Given the description of an element on the screen output the (x, y) to click on. 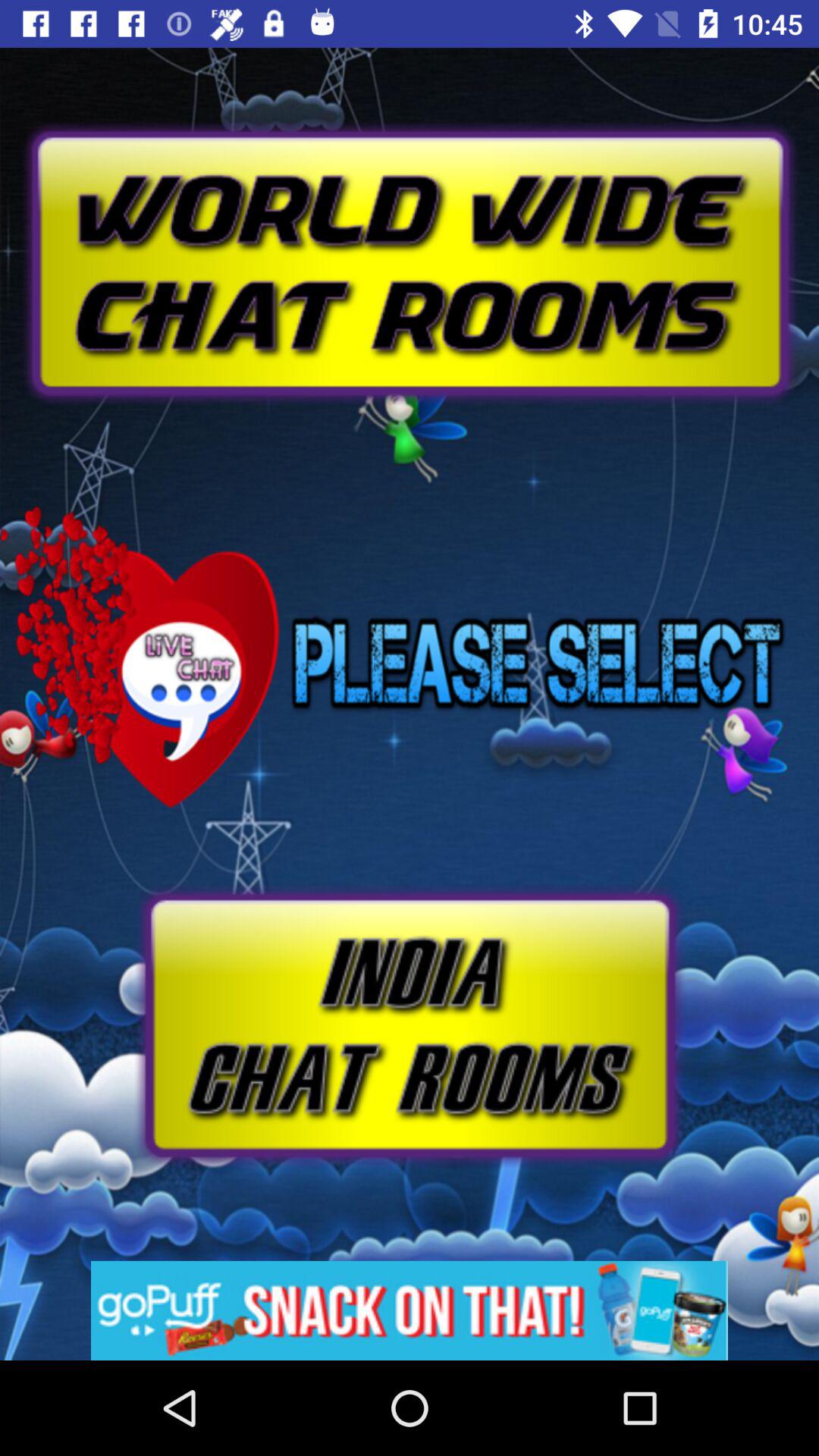
games (409, 1310)
